Given the description of an element on the screen output the (x, y) to click on. 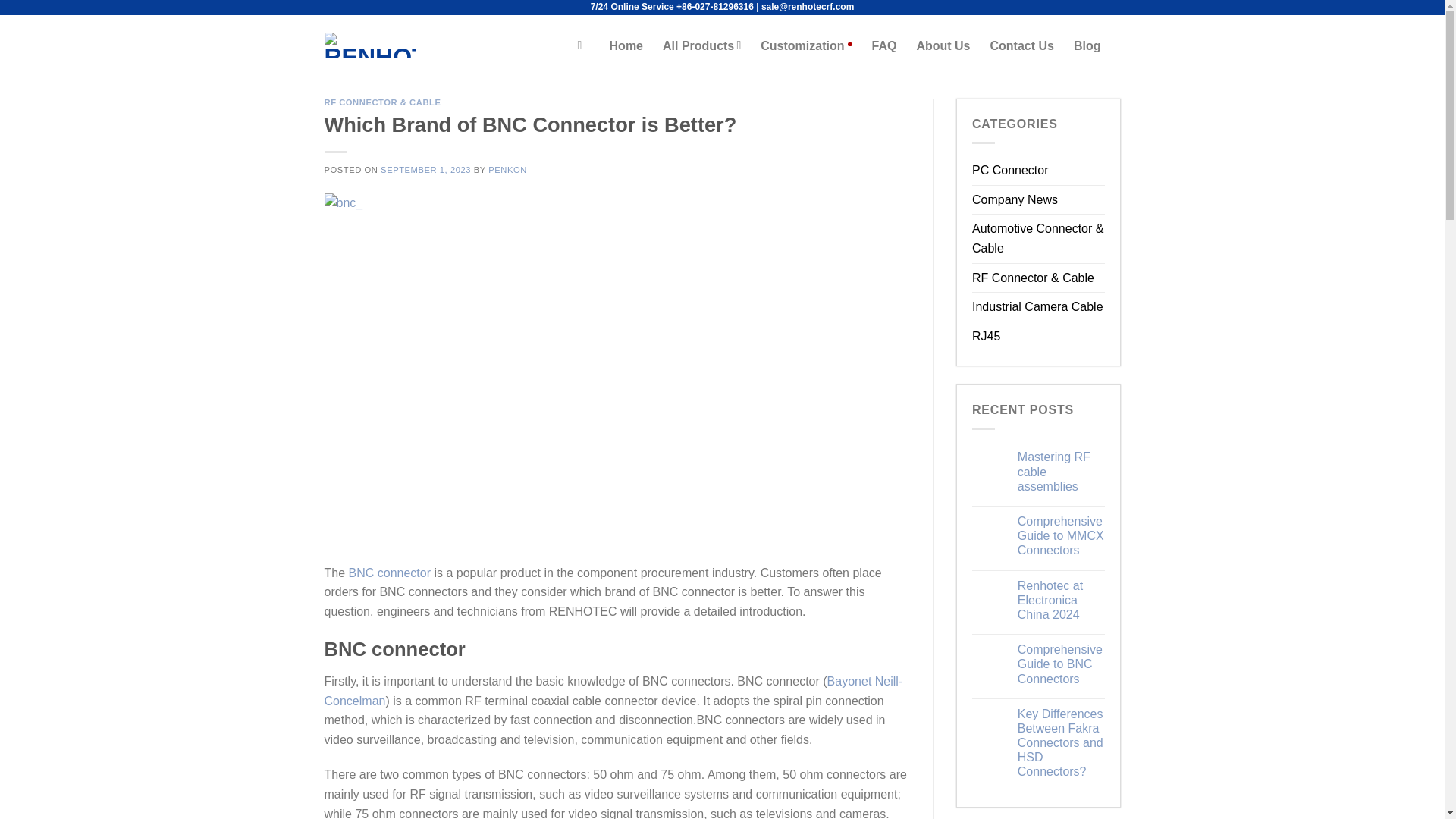
Renhotec at Electronica China 2024 (1061, 600)
Comprehensive Guide to MMCX Connectors (1061, 535)
Comprehensive Guide to BNC Connectors (1061, 664)
All Products (701, 44)
Home (626, 44)
Mastering RF cable assemblies (1061, 471)
RenhotecRF - Top RF Connector Manufacturer (369, 44)
Key Differences Between Fakra Connectors and HSD Connectors? (1061, 742)
